Given the description of an element on the screen output the (x, y) to click on. 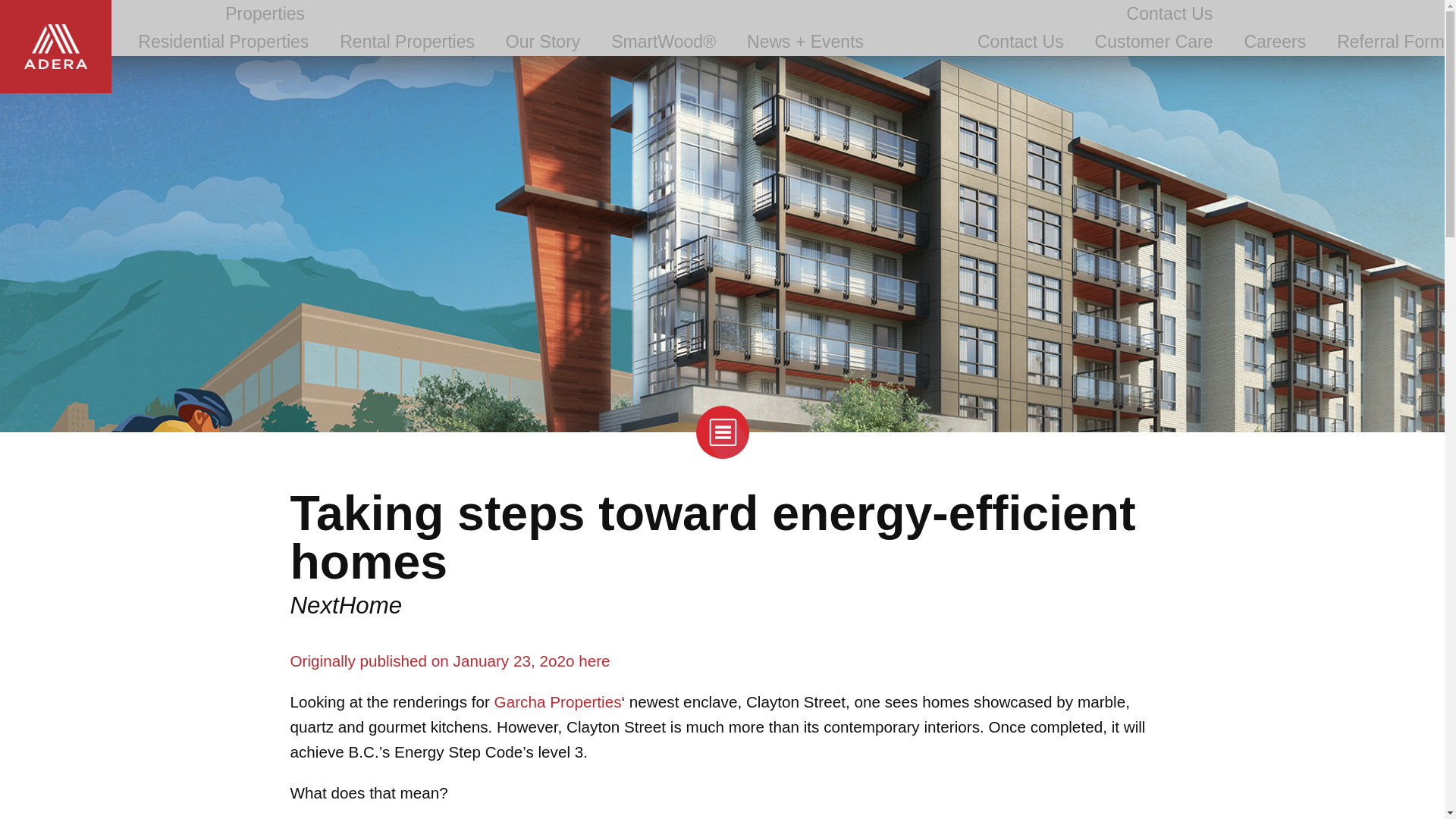
Contact Us (1169, 13)
Rental Properties (406, 41)
Careers (1274, 41)
Customer Care (1153, 41)
Properties (264, 13)
Our Story (542, 41)
Residential Properties (223, 41)
Contact Us (1020, 41)
